Given the description of an element on the screen output the (x, y) to click on. 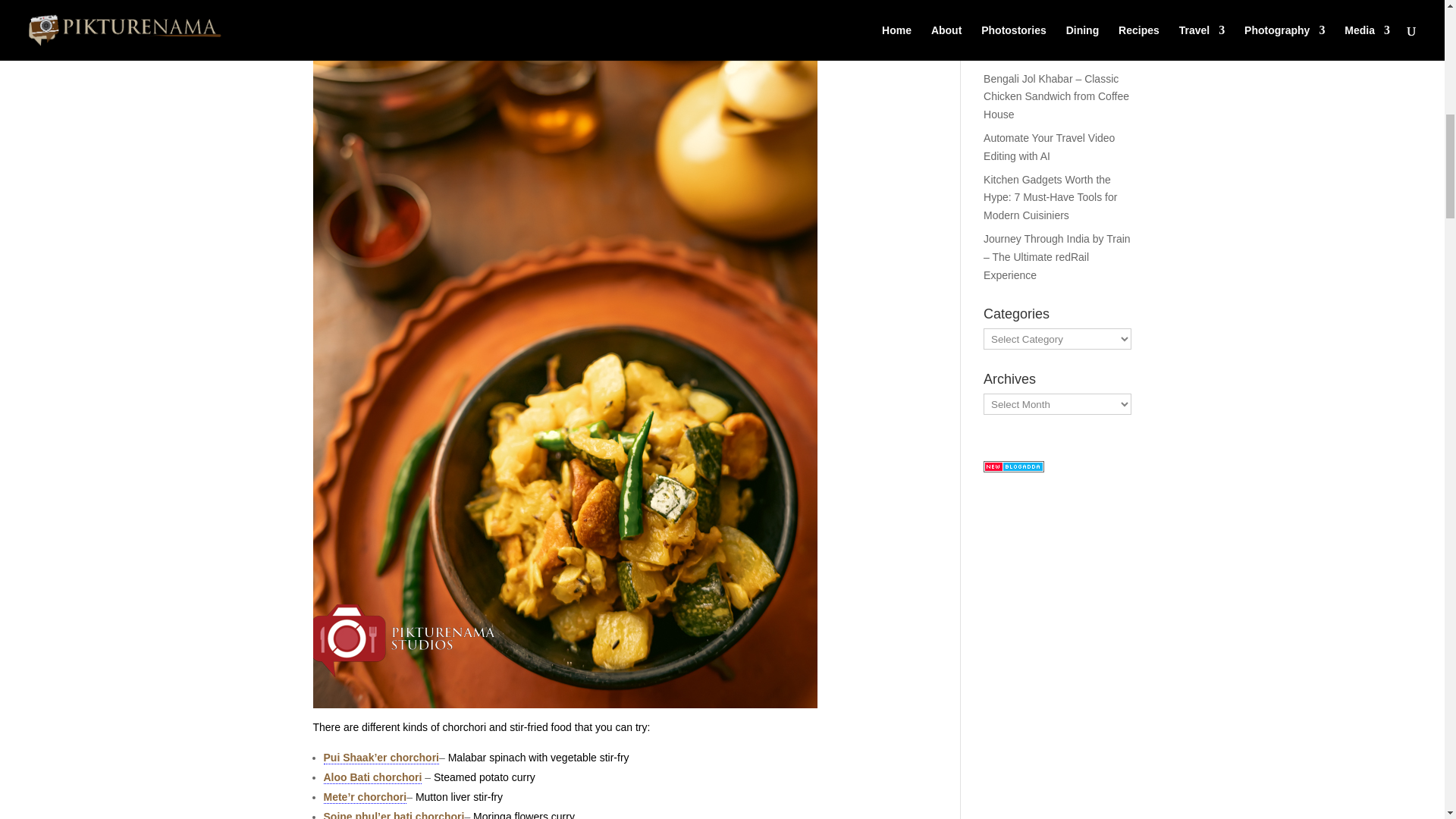
Visit blogadda.com to discover Indian blogs (1013, 468)
